Given the description of an element on the screen output the (x, y) to click on. 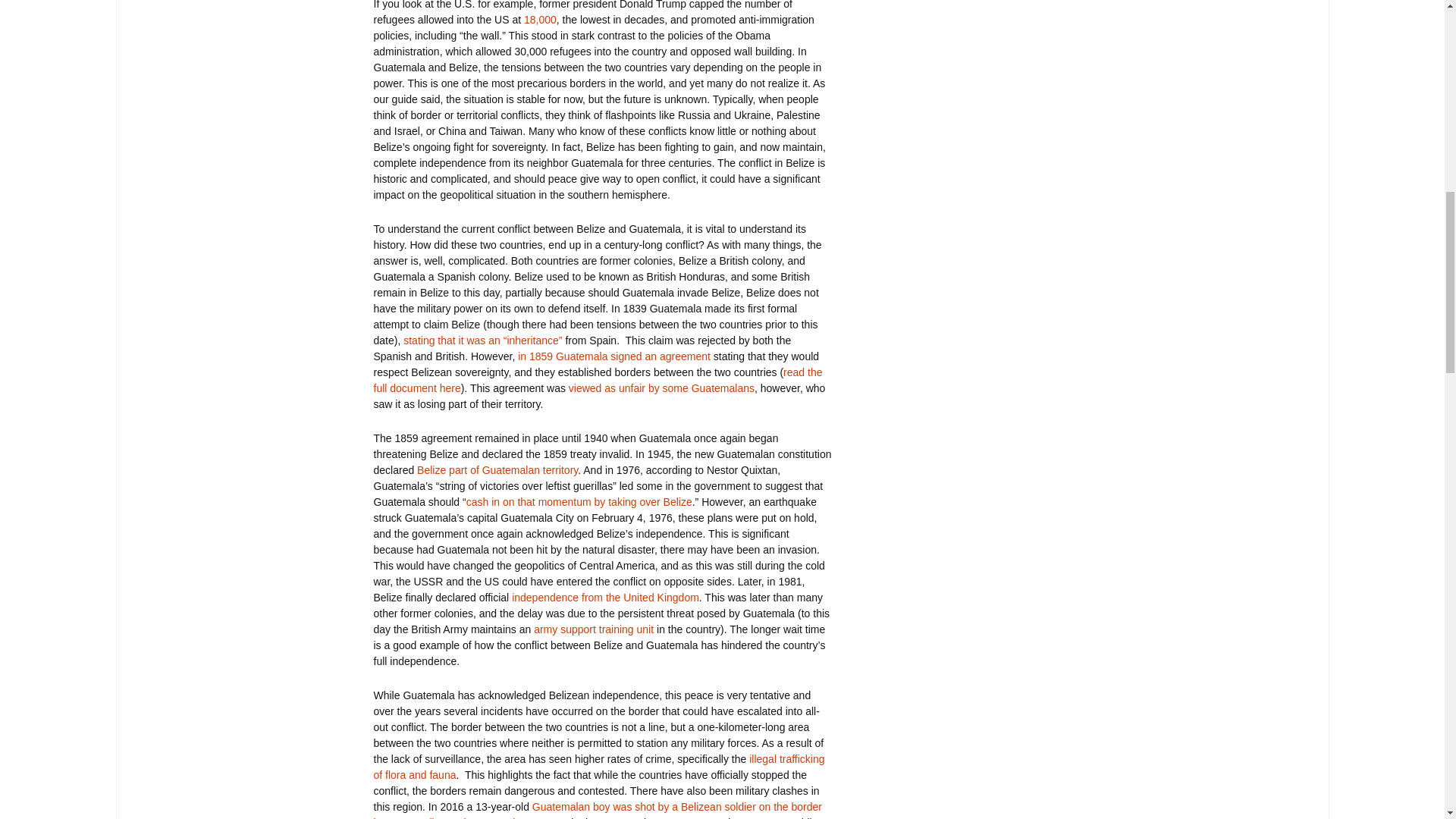
nfair by some Guatemalans (689, 387)
illegal trafficking of flora and fauna (598, 766)
cash in on that momentum by taking over Belize (579, 501)
18,000 (540, 19)
read the full document here (597, 379)
viewed as u (596, 387)
army support training unit (593, 629)
in 1859 Guatemala signed an agreement (612, 356)
Belize part of Guatemalan territory (497, 469)
